Given the description of an element on the screen output the (x, y) to click on. 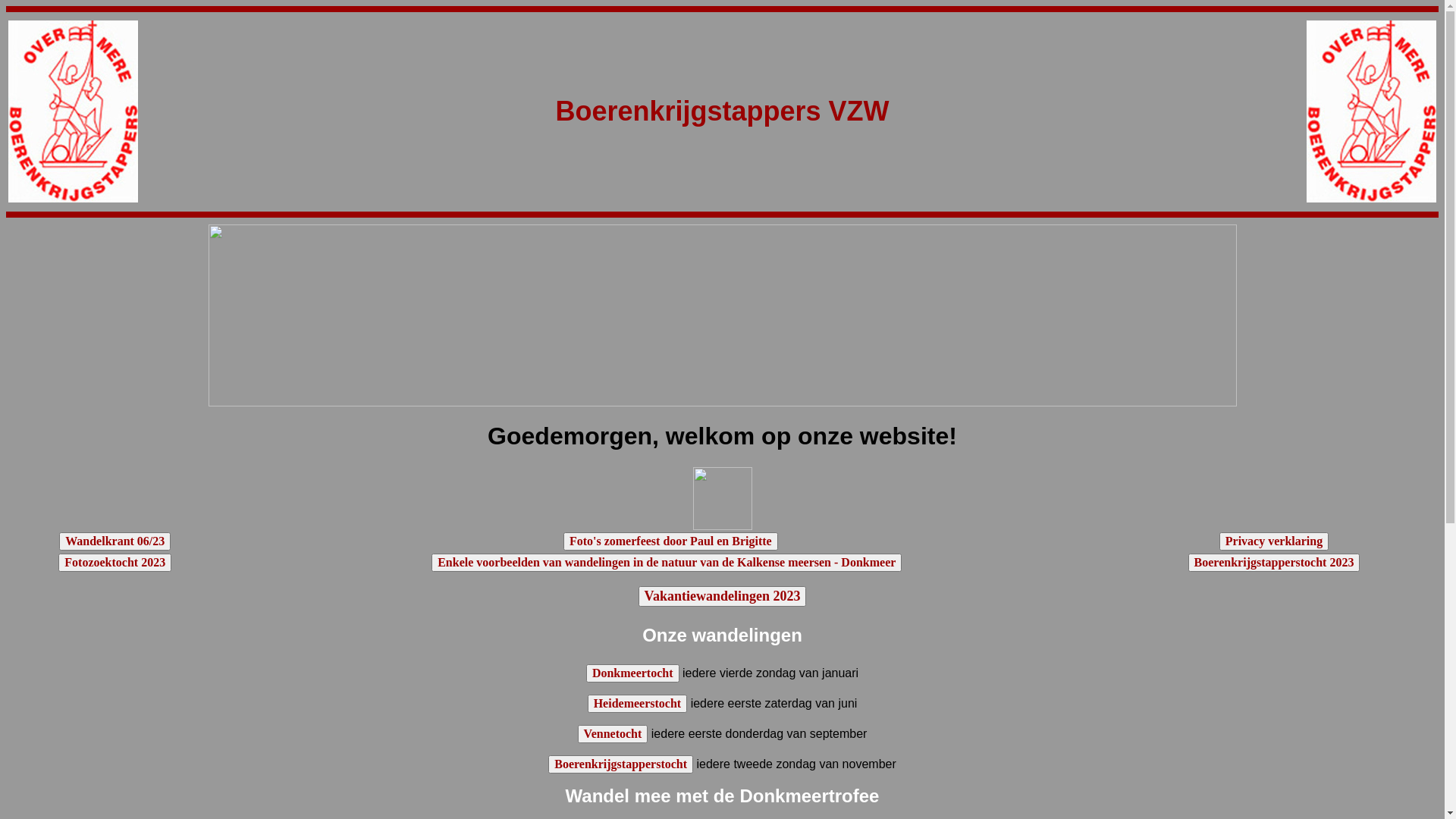
Vennetocht Element type: text (612, 733)
Donkmeertocht Element type: text (632, 673)
Vakantiewandelingen 2023 Element type: text (722, 596)
Boerenkrijgstapperstocht Element type: text (620, 764)
Heidemeerstocht Element type: text (637, 703)
Foto's zomerfeest door Paul en Brigitte Element type: text (670, 541)
Boerenkrijgstapperstocht 2023 Element type: text (1274, 562)
Wandelkrant 06/23 Element type: text (114, 541)
Privacy verklaring Element type: text (1273, 541)
Fotozoektocht 2023 Element type: text (114, 562)
